Given the description of an element on the screen output the (x, y) to click on. 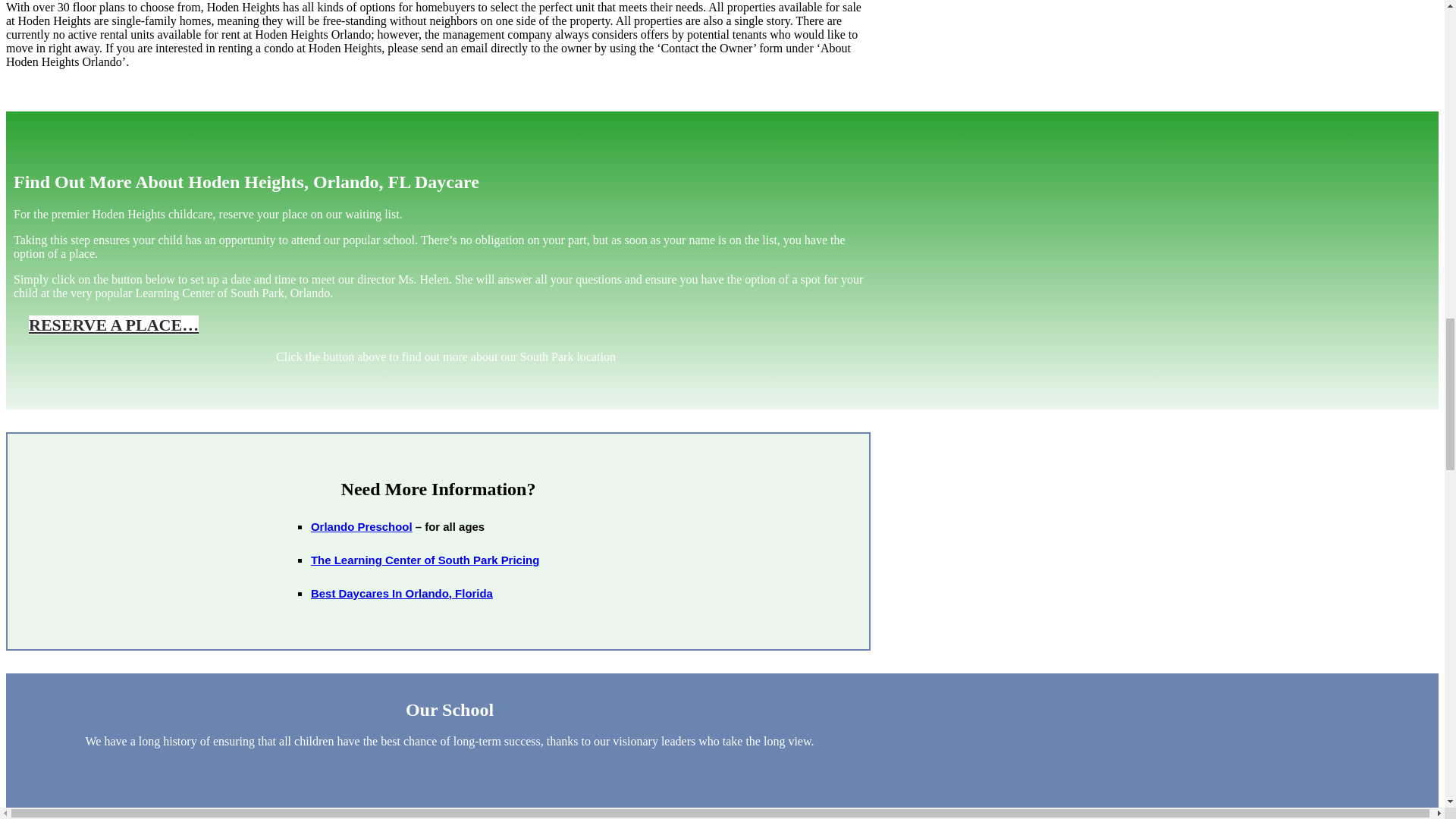
Best Daycares In Orlando, Florida (402, 593)
Orlando Preschool (361, 526)
The Learning Center of South Park Pricing (424, 559)
